Given the description of an element on the screen output the (x, y) to click on. 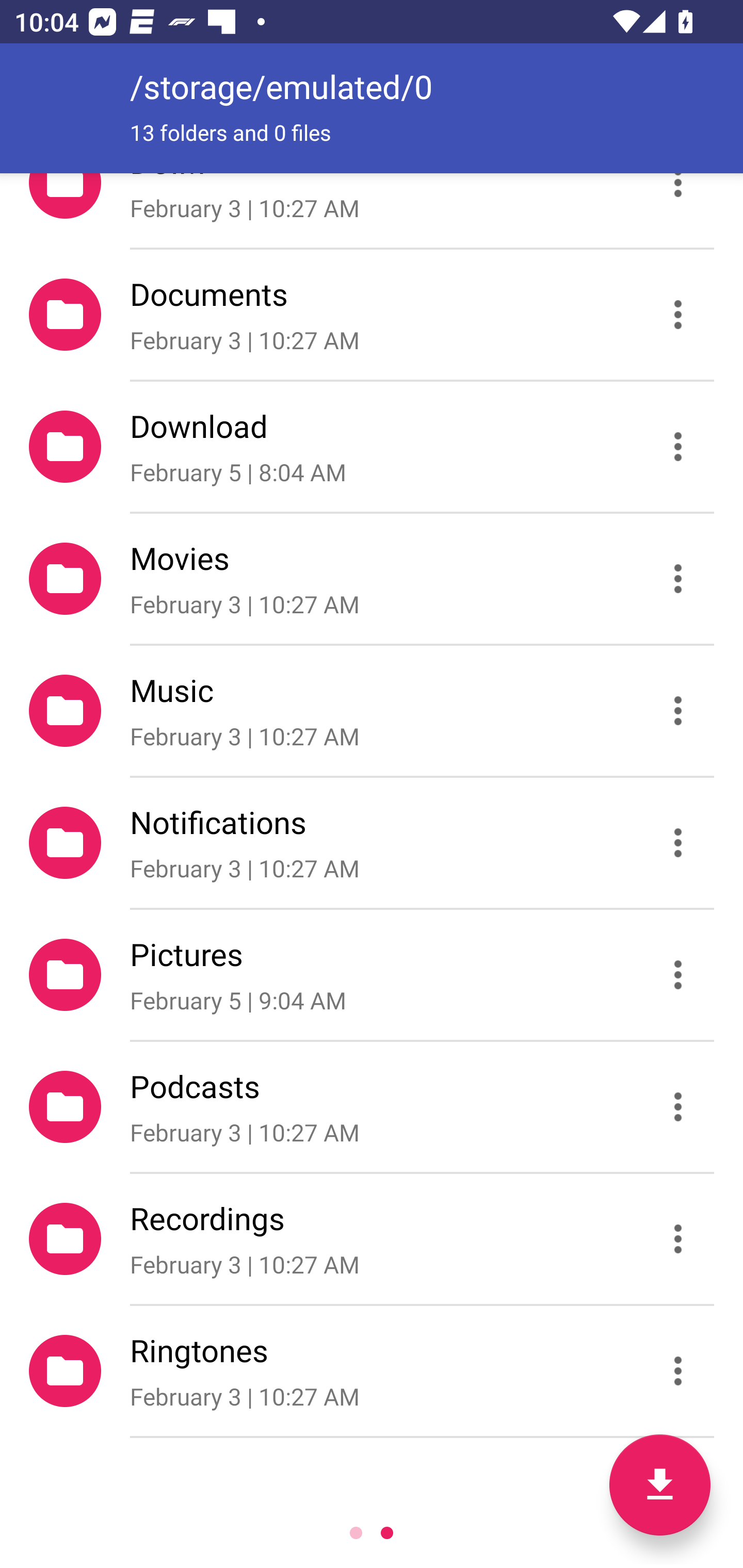
DCIM February 3 | 10:27 AM (371, 210)
Documents February 3 | 10:27 AM (371, 314)
Download February 5 | 8:04 AM (371, 446)
Movies February 3 | 10:27 AM (371, 579)
Music February 3 | 10:27 AM (371, 711)
Notifications February 3 | 10:27 AM (371, 842)
Pictures February 5 | 9:04 AM (371, 974)
Podcasts February 3 | 10:27 AM (371, 1106)
Recordings February 3 | 10:27 AM (371, 1239)
Ringtones February 3 | 10:27 AM (371, 1371)
